Given the description of an element on the screen output the (x, y) to click on. 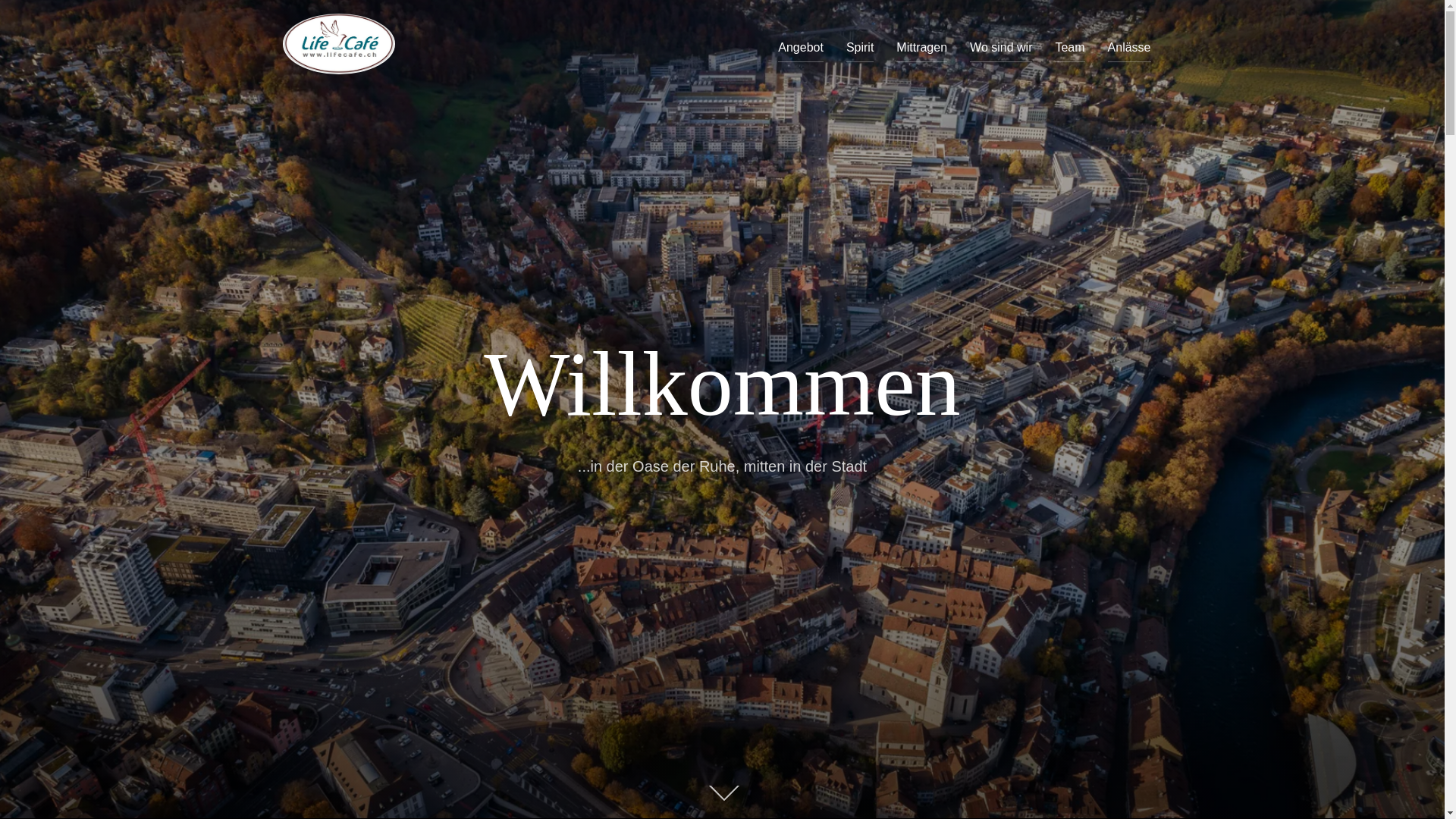
Mittragen Element type: text (921, 47)
Angebot Element type: text (800, 47)
Team Element type: text (1069, 47)
Spirit Element type: text (859, 47)
Willkommen Element type: text (721, 383)
Wo sind wir Element type: text (1000, 47)
